Given the description of an element on the screen output the (x, y) to click on. 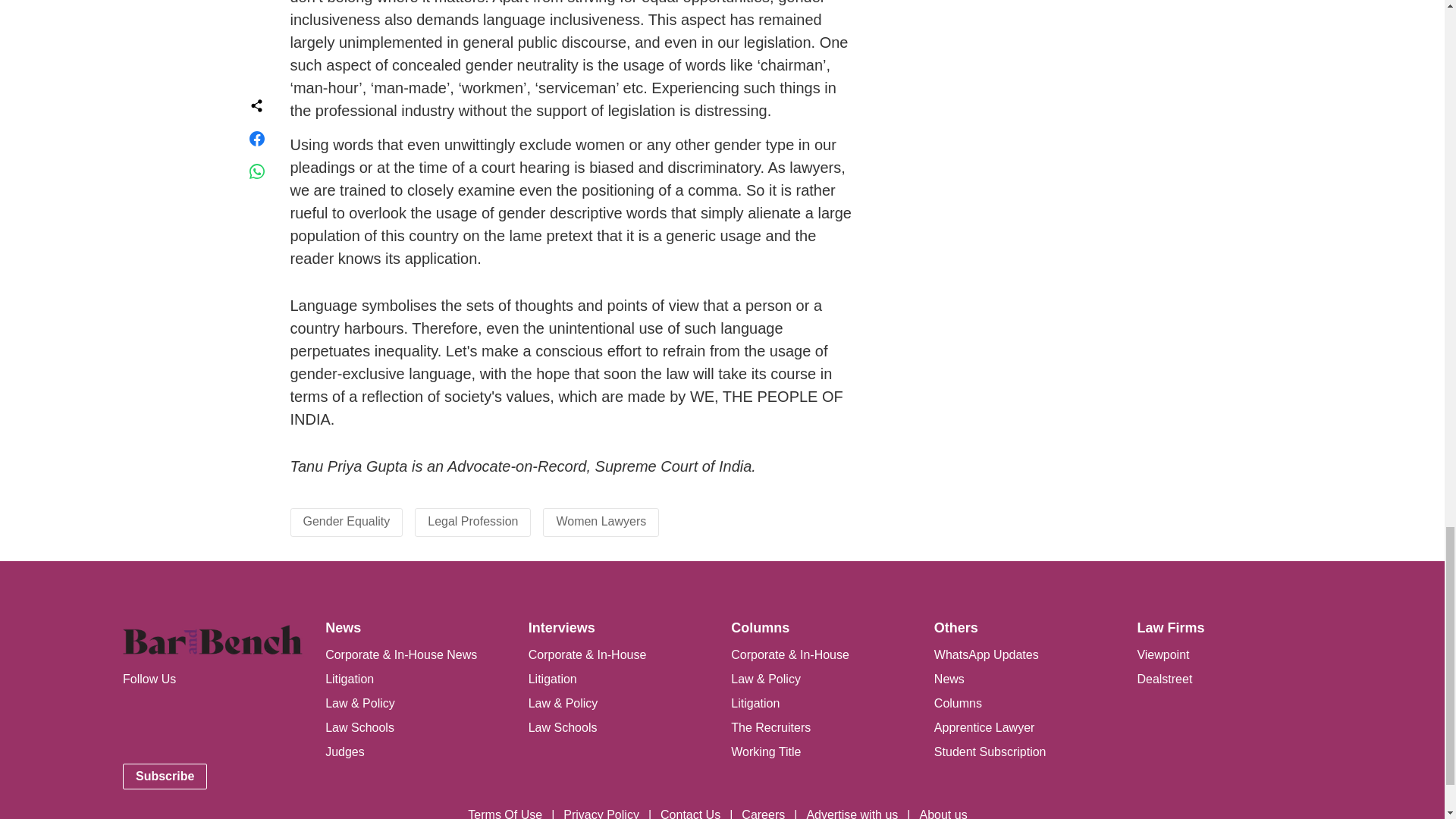
News (342, 627)
Litigation (349, 678)
Women Lawyers (601, 521)
Gender Equality (346, 521)
Legal Profession (473, 521)
